Given the description of an element on the screen output the (x, y) to click on. 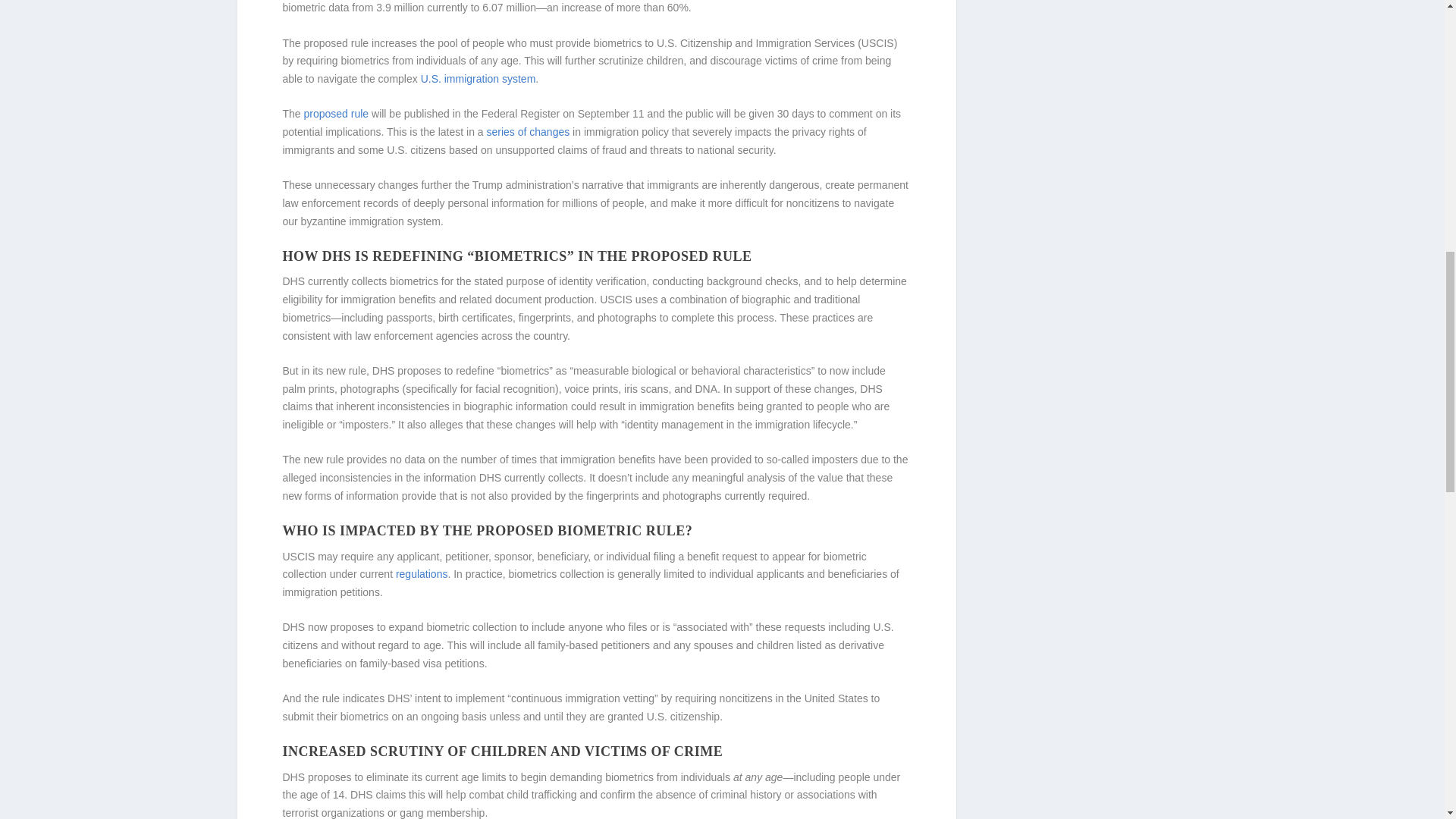
regulations (422, 573)
series of changes (528, 132)
proposed rule (336, 113)
U.S. immigration system (477, 78)
